Given the description of an element on the screen output the (x, y) to click on. 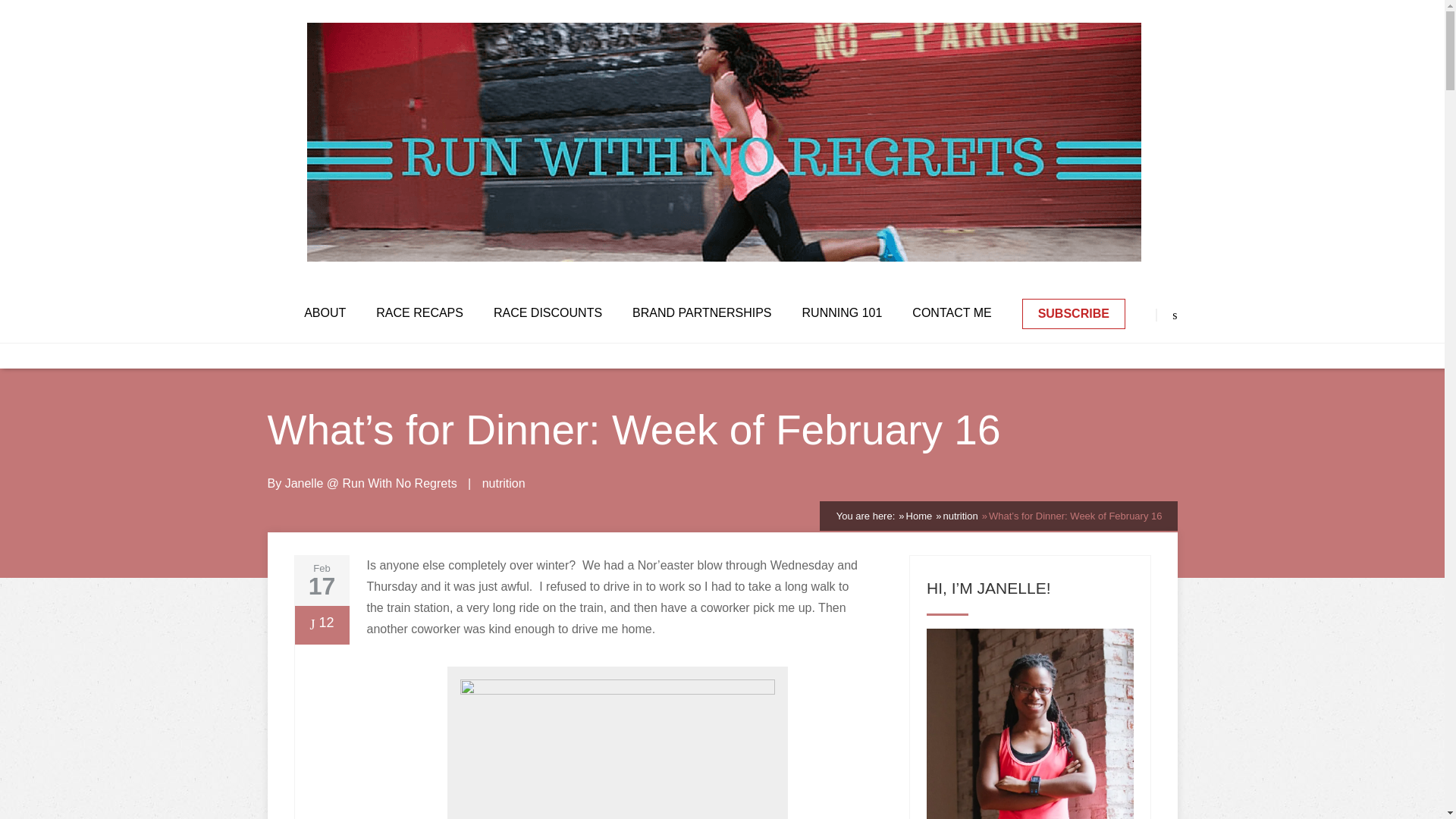
nutrition (503, 481)
ABOUT (325, 313)
RACE RECAPS (419, 313)
RUNNING 101 (842, 313)
BRAND PARTNERSHIPS (701, 313)
12 (320, 625)
SUBSCRIBE (1073, 313)
RACE DISCOUNTS (547, 313)
Home (919, 514)
nutrition (959, 514)
